Given the description of an element on the screen output the (x, y) to click on. 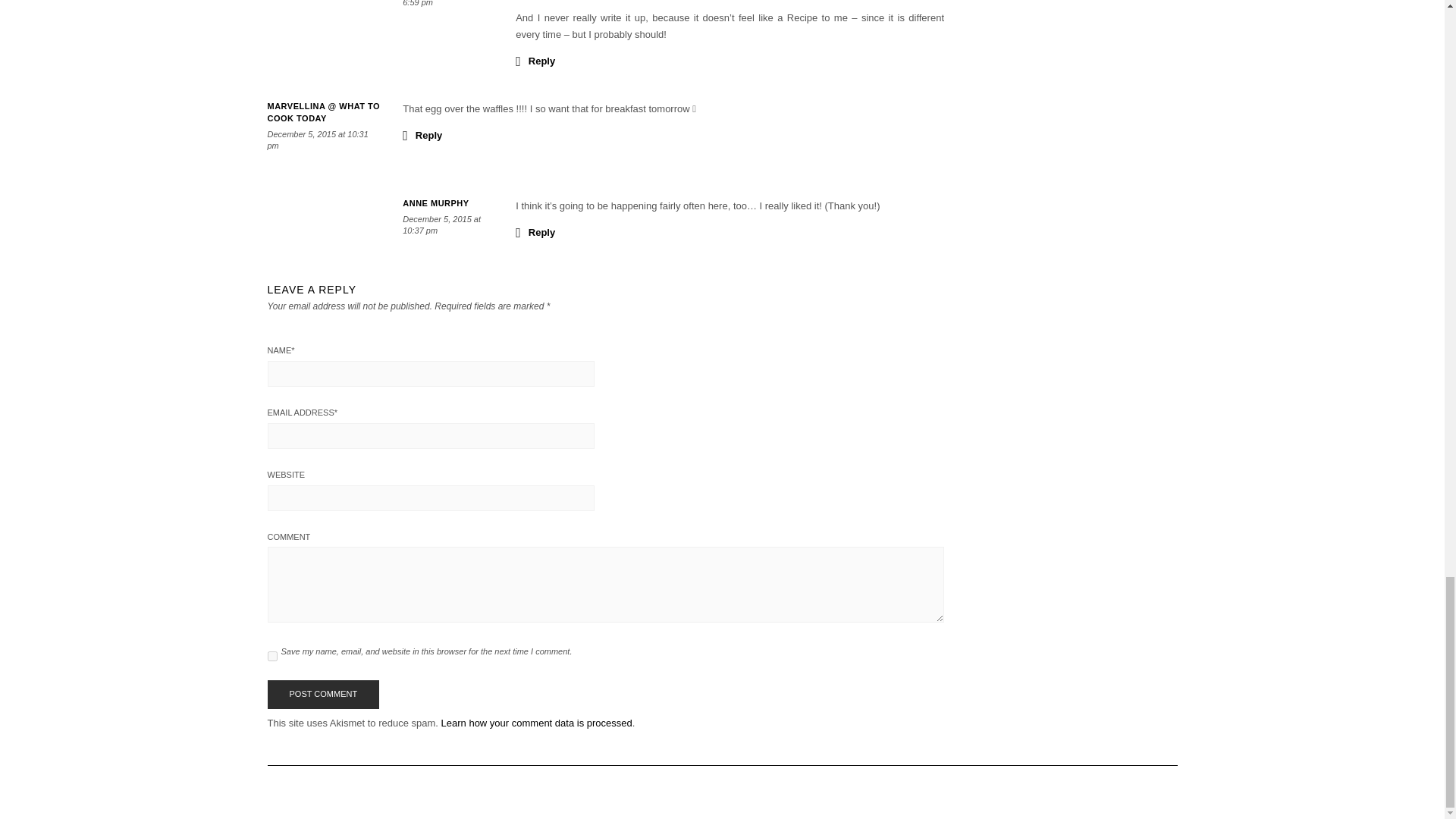
December 5, 2015 at 10:37 pm (441, 224)
Reply (534, 231)
December 5, 2015 at 10:31 pm (317, 139)
December 4, 2015 at 6:59 pm (441, 3)
Post Comment (322, 694)
Reply (534, 60)
yes (271, 655)
Reply (422, 134)
Post Comment (322, 694)
Learn how your comment data is processed (536, 722)
